Given the description of an element on the screen output the (x, y) to click on. 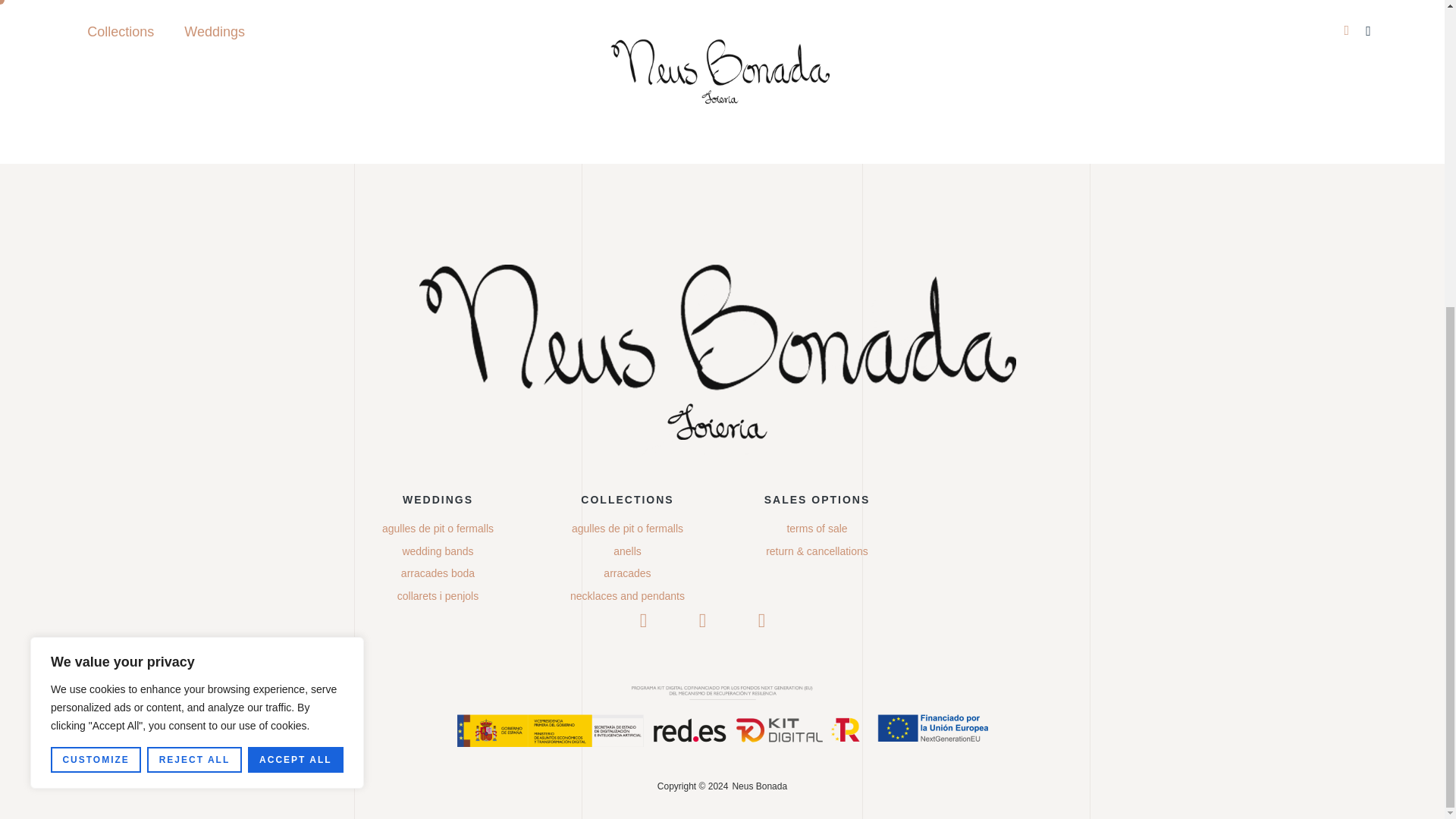
REJECT ALL (194, 275)
ACCEPT ALL (295, 275)
CUSTOMIZE (95, 275)
